Given the description of an element on the screen output the (x, y) to click on. 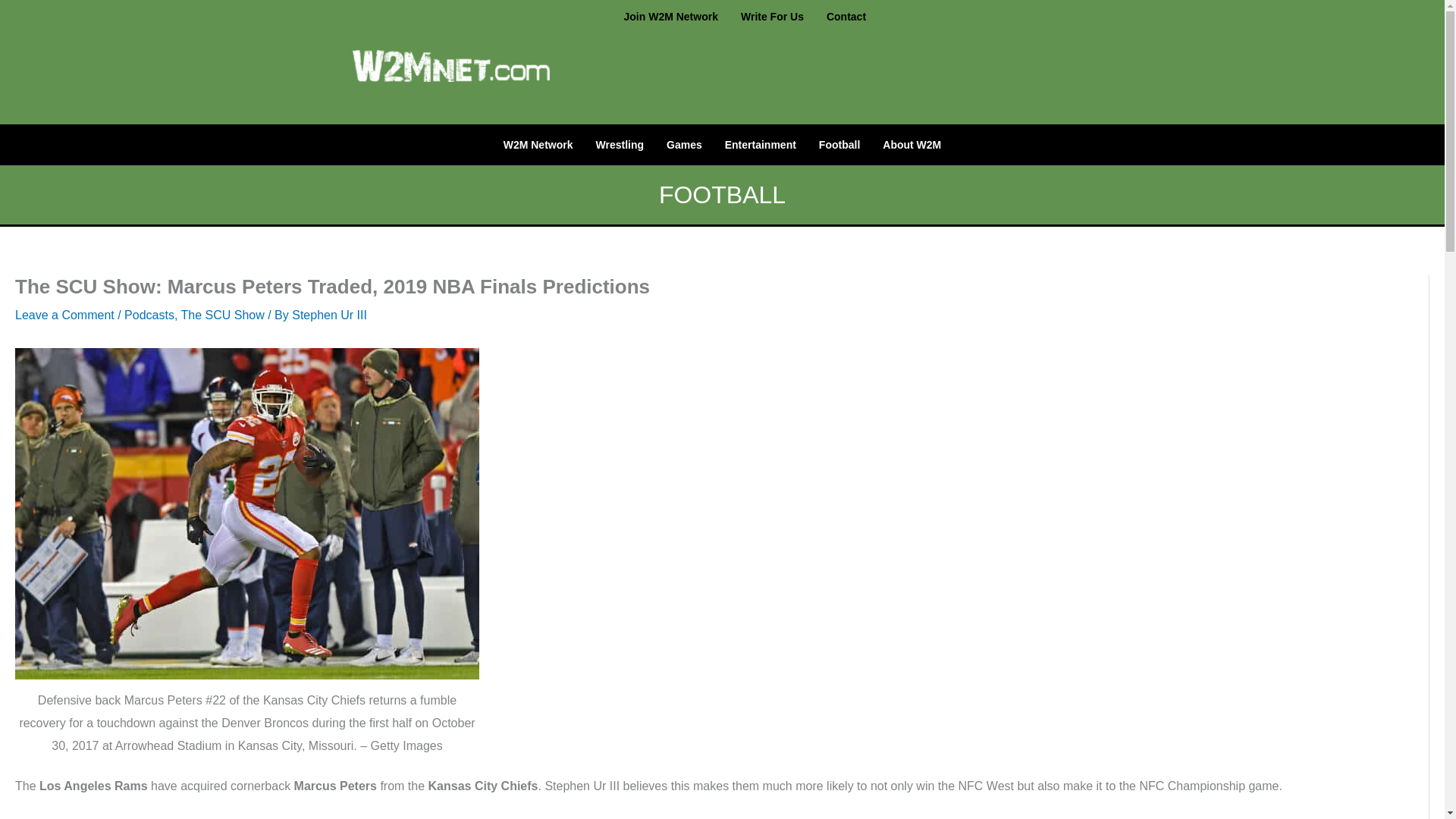
Games (684, 144)
FOOTBALL (722, 194)
Leave a Comment (64, 314)
The SCU Show (221, 314)
Entertainment (760, 144)
Advertisement (873, 74)
W2M Network (538, 144)
About W2M (912, 144)
Stephen Ur III (329, 314)
Football (838, 144)
